Given the description of an element on the screen output the (x, y) to click on. 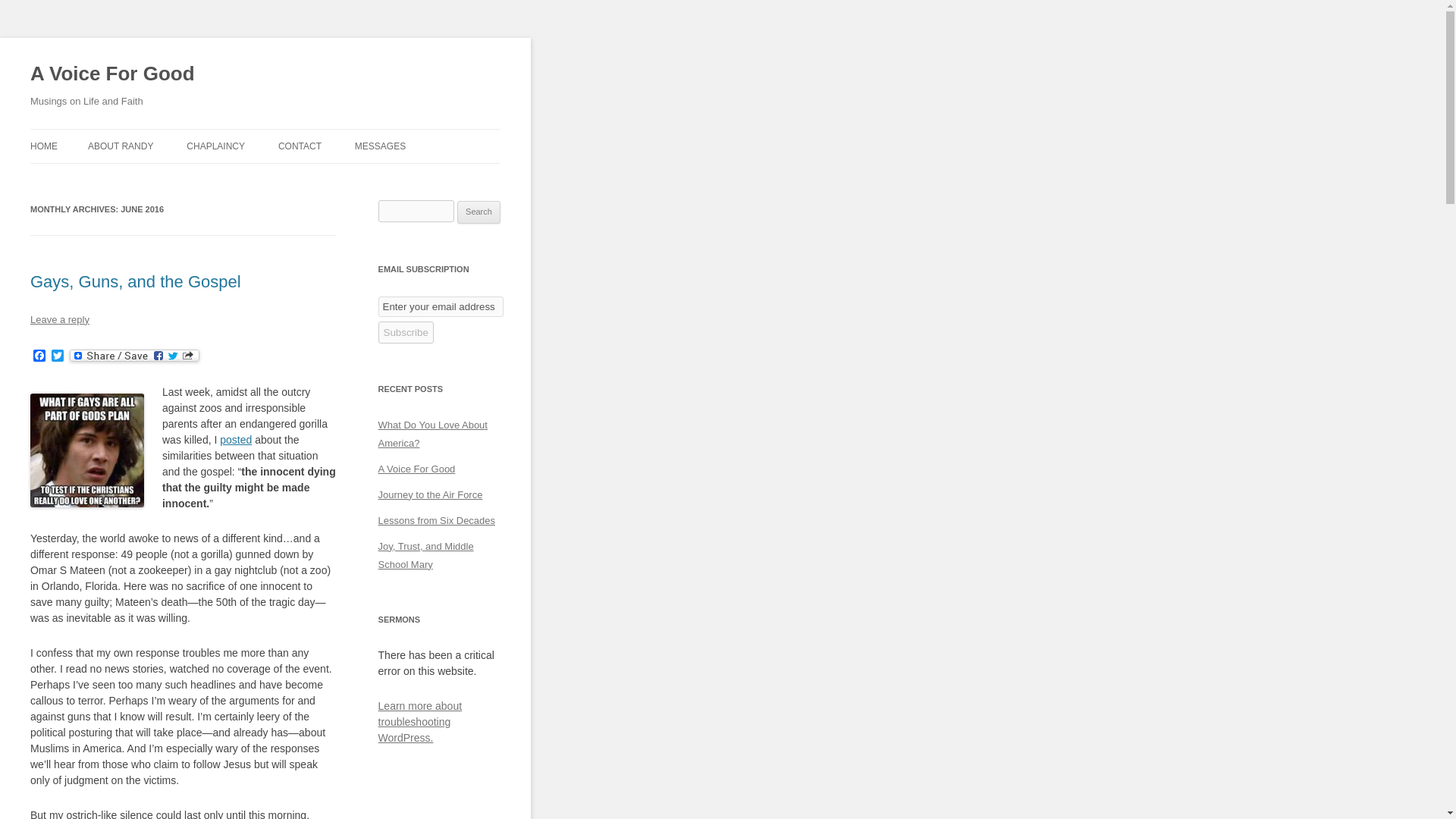
Facebook (39, 356)
Facebook (39, 356)
Enter your email address (440, 306)
A Voice For Good (112, 74)
Enter your email address (440, 306)
CHAPLAINCY (215, 145)
Search (478, 211)
Gays, Guns, and the Gospel (135, 281)
Twitter (57, 356)
Leave a reply (59, 319)
CONTACT (299, 145)
posted (235, 439)
ABOUT RANDY (119, 145)
HOME (44, 145)
